Given the description of an element on the screen output the (x, y) to click on. 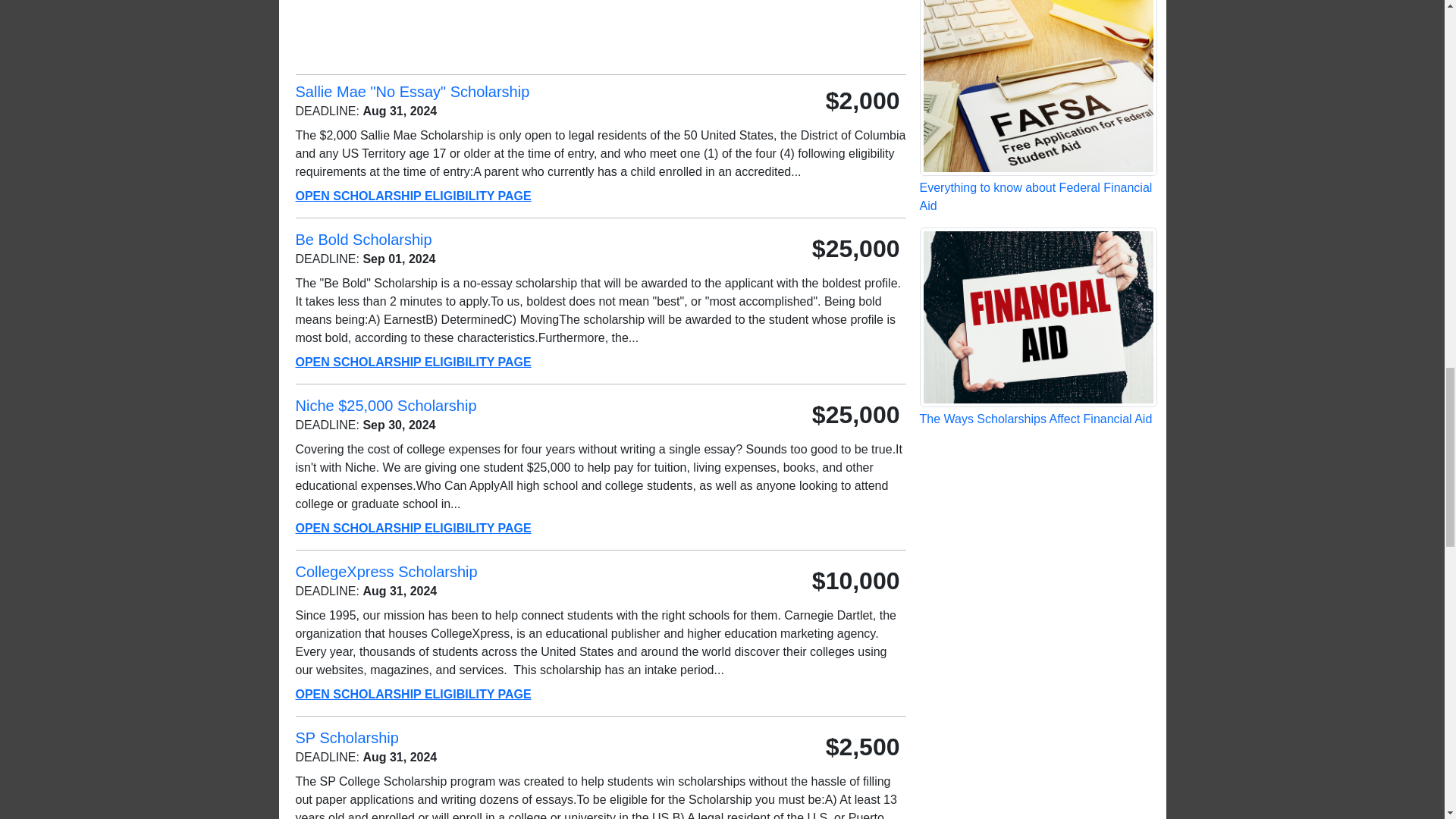
OPEN SCHOLARSHIP ELIGIBILITY PAGE (413, 195)
OPEN SCHOLARSHIP ELIGIBILITY PAGE (413, 361)
Sallie Mae "No Essay" Scholarship (412, 92)
Be Bold Scholarship (363, 240)
